Given the description of an element on the screen output the (x, y) to click on. 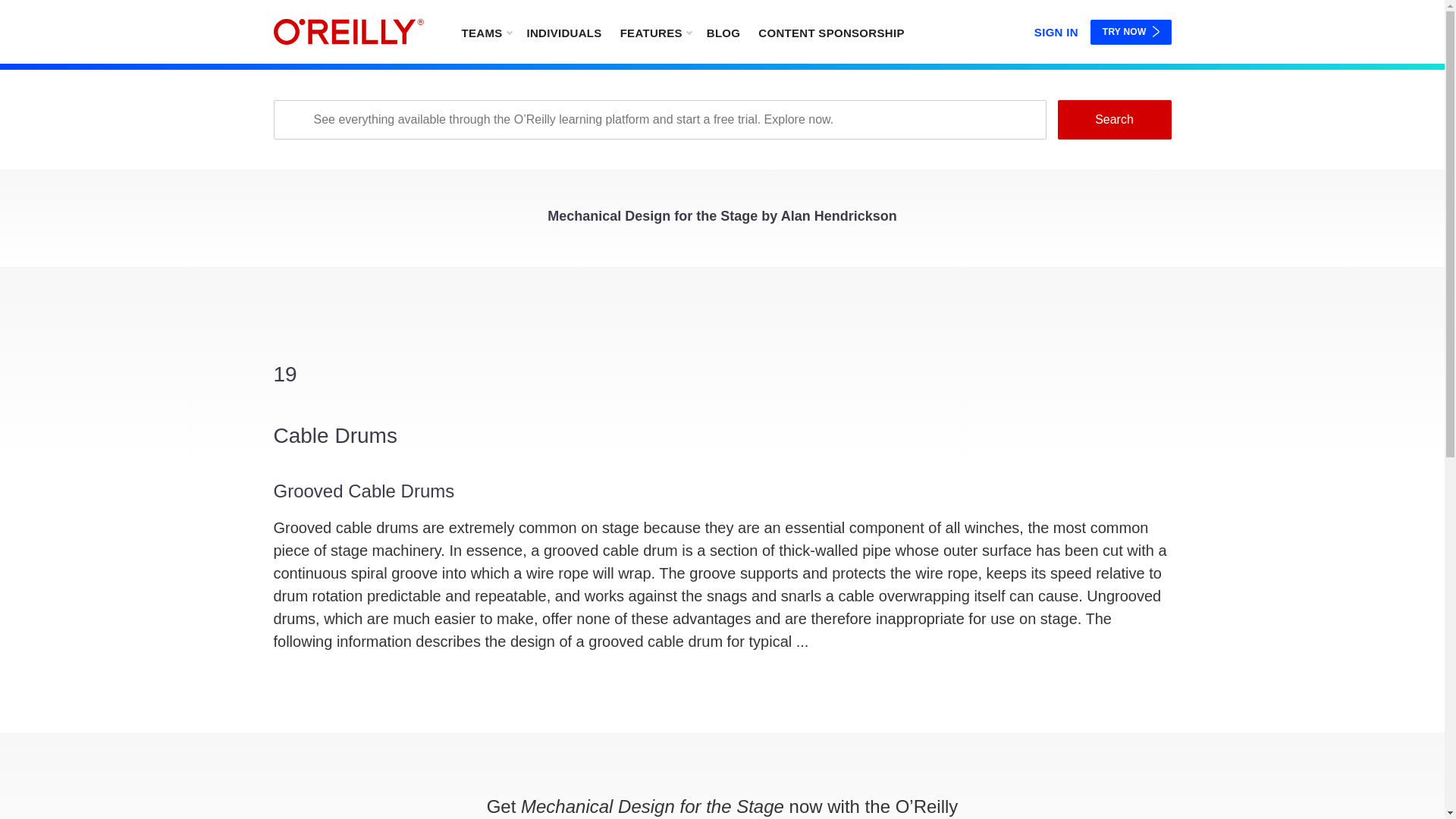
CONTENT SPONSORSHIP (831, 31)
INDIVIDUALS (563, 31)
Search (1113, 119)
FEATURES (655, 31)
SIGN IN (1055, 29)
Mechanical Design for the Stage by Alan Hendrickson (721, 219)
BLOG (723, 31)
Search (1113, 119)
Search (1113, 119)
home page (348, 31)
TEAMS (486, 31)
TRY NOW (1131, 32)
